Given the description of an element on the screen output the (x, y) to click on. 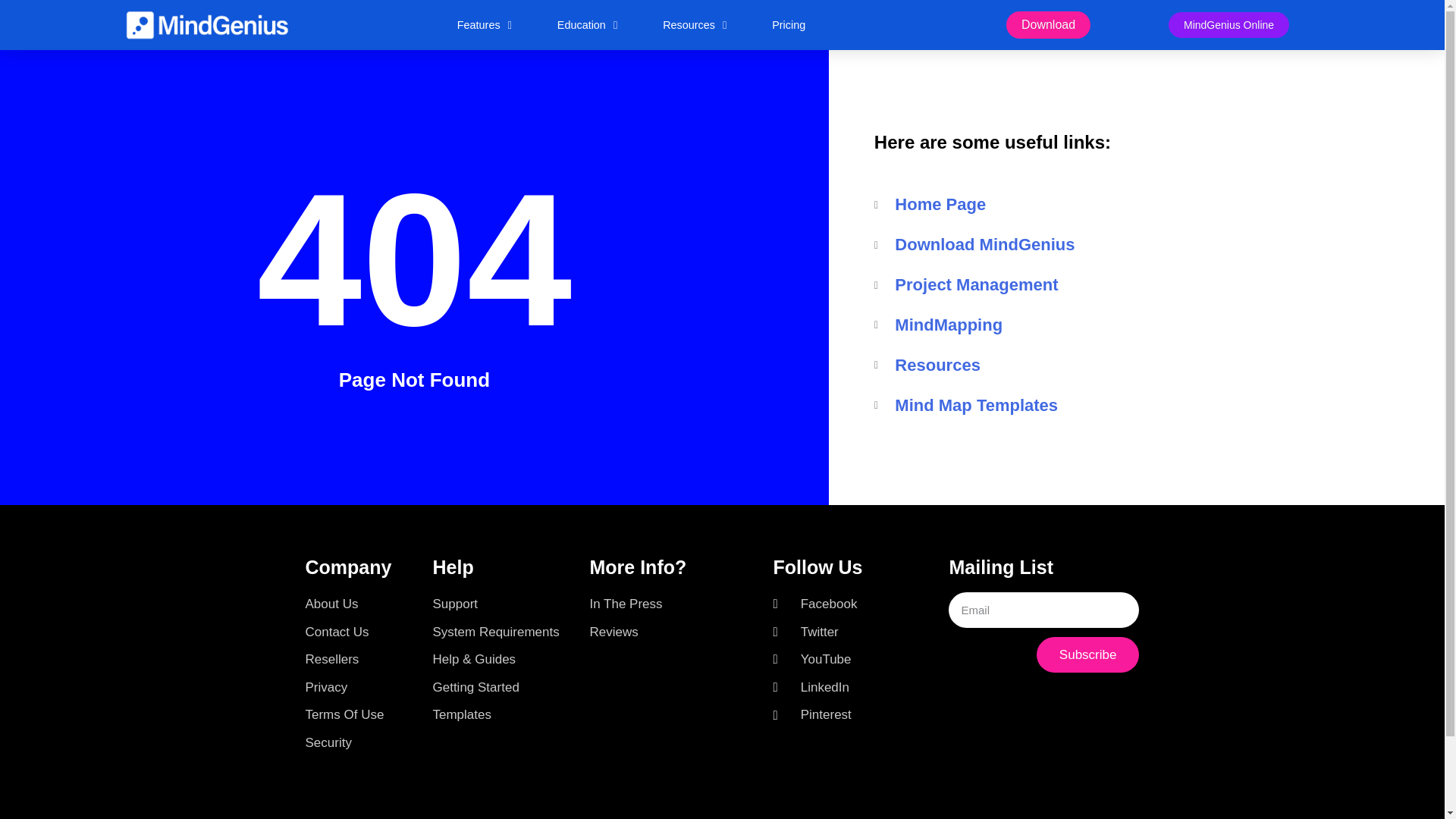
Features (483, 24)
Resources (694, 24)
Education (587, 24)
Pricing (788, 24)
